Given the description of an element on the screen output the (x, y) to click on. 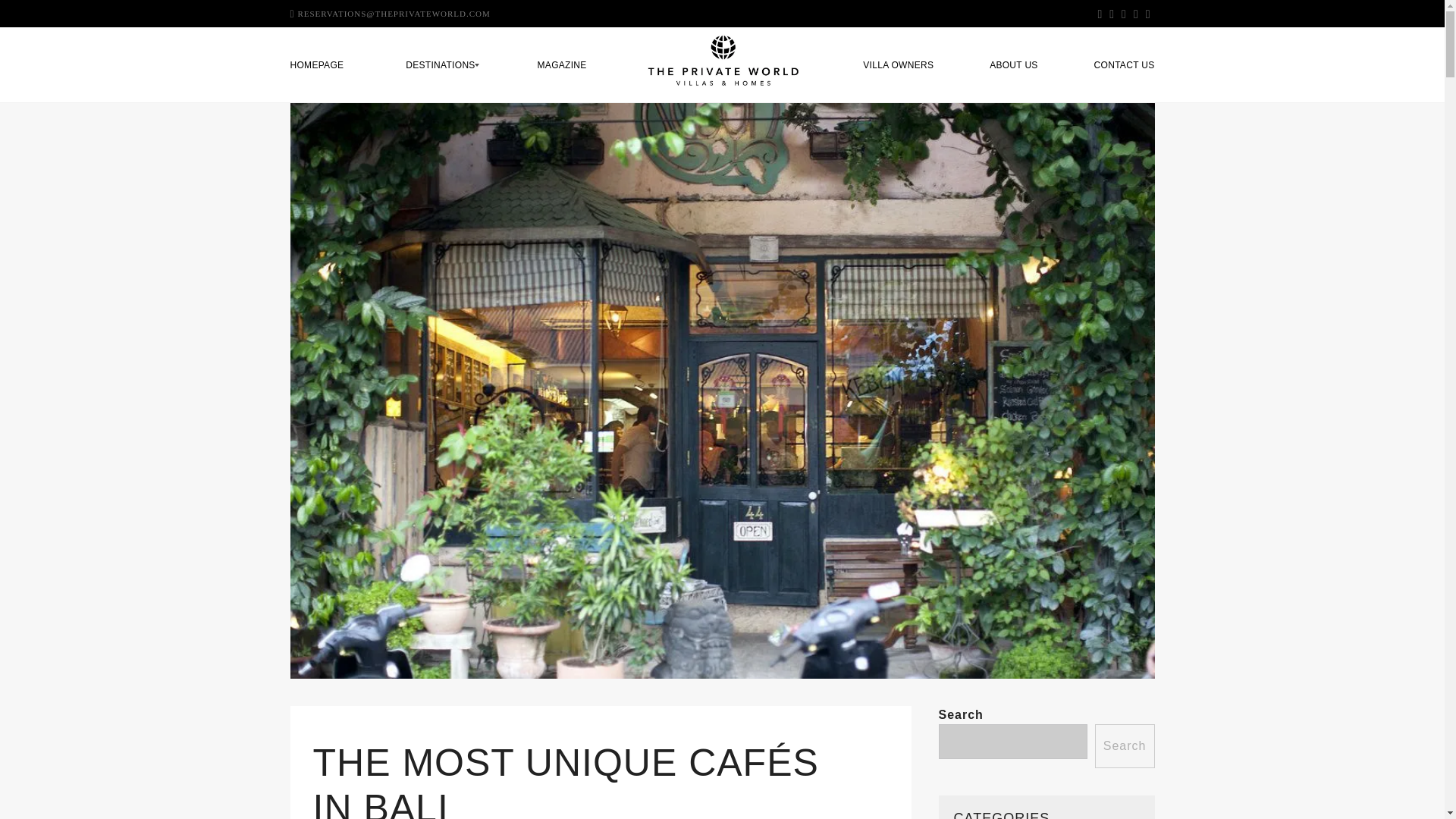
ABOUT US (1013, 65)
VILLA OWNERS (898, 65)
MAGAZINE (561, 65)
Search (1124, 745)
DESTINATIONS (440, 65)
CONTACT US (1117, 65)
